Given the description of an element on the screen output the (x, y) to click on. 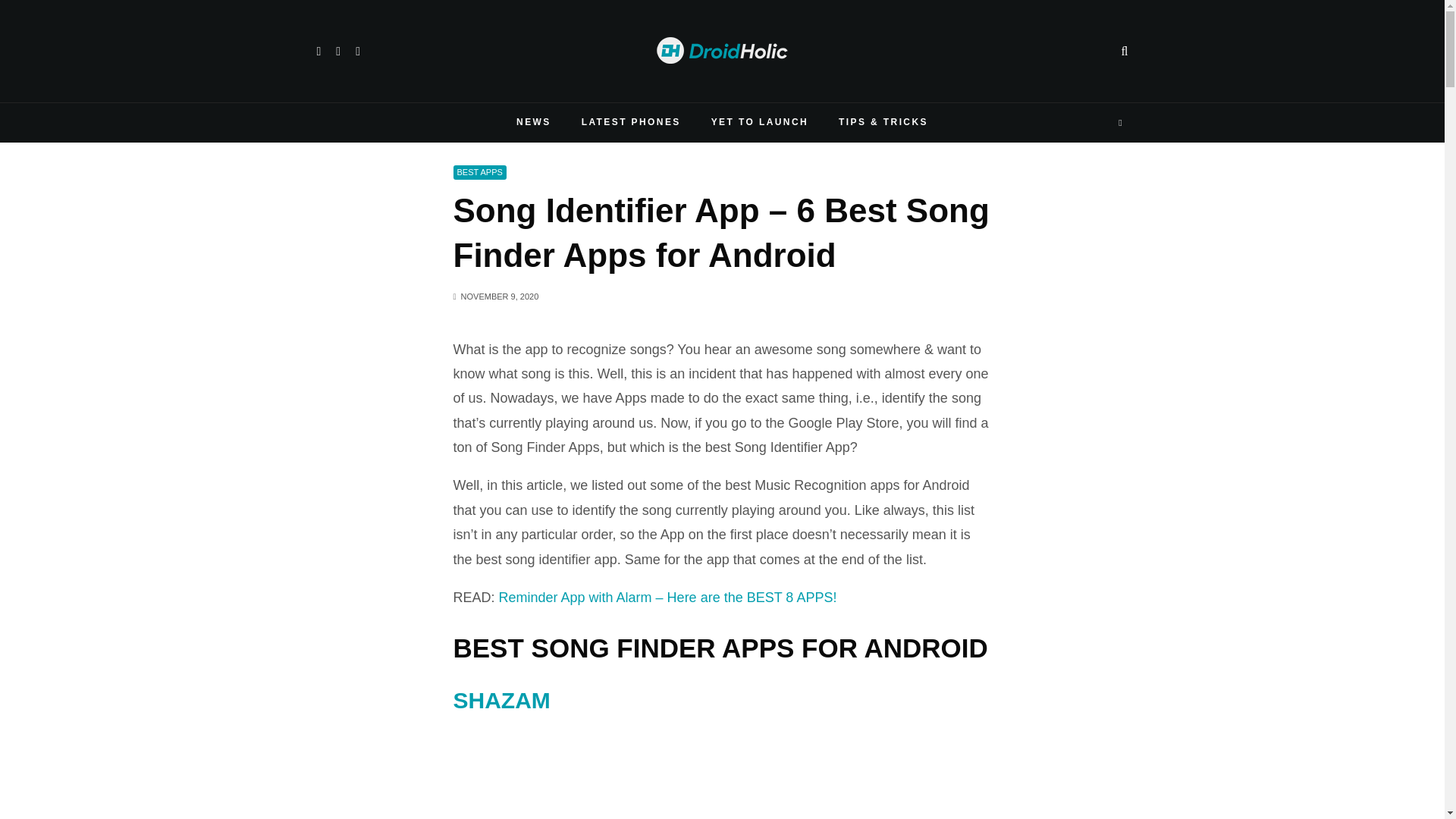
NEWS (533, 122)
LATEST PHONES (630, 122)
YET TO LAUNCH (759, 122)
